Given the description of an element on the screen output the (x, y) to click on. 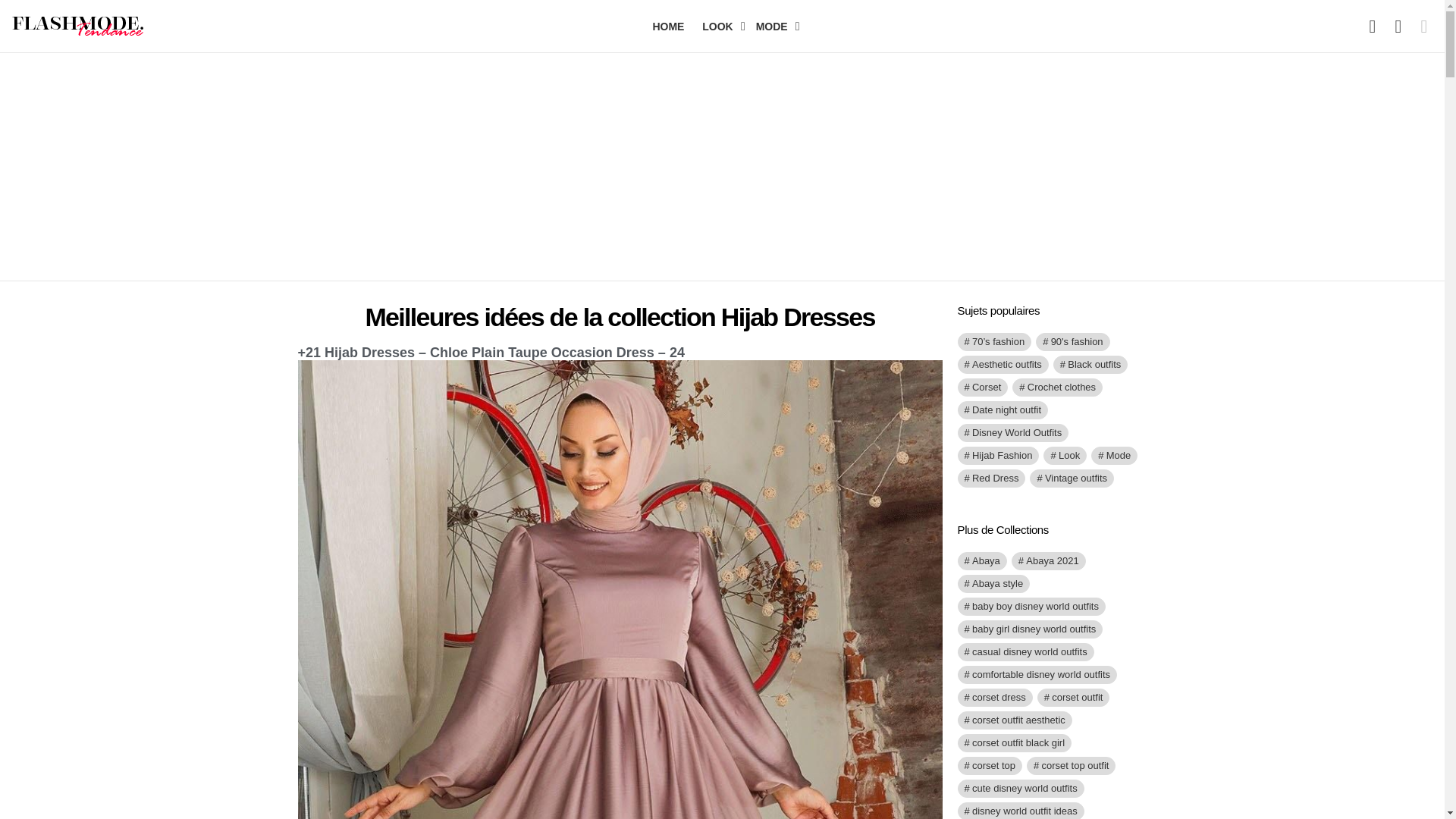
MODE (773, 26)
LOOK (719, 26)
HOME (668, 26)
